Given the description of an element on the screen output the (x, y) to click on. 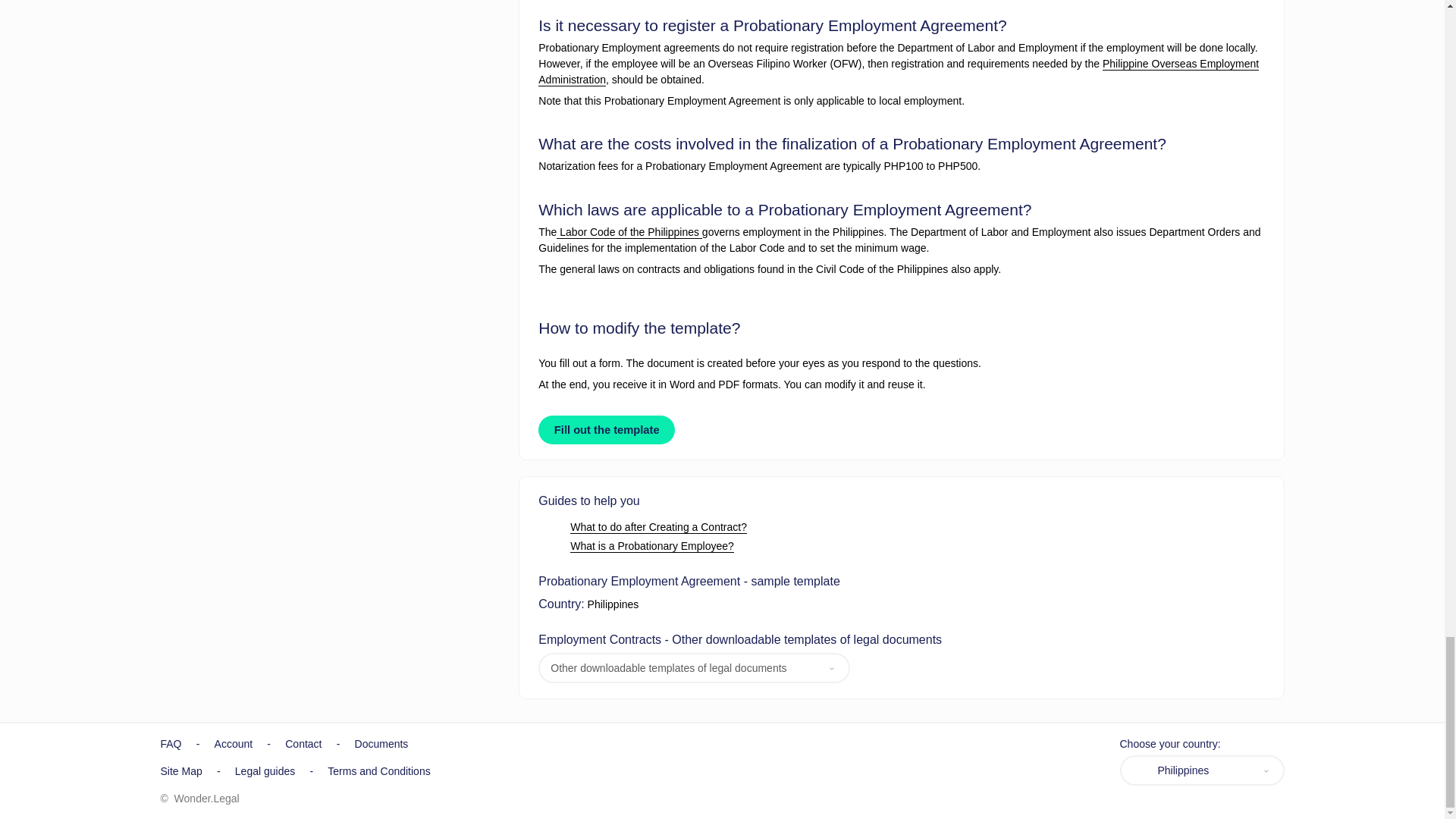
What to do after Creating a Contract? (658, 526)
FAQ (171, 743)
Site Map (181, 770)
Fill out the template (606, 429)
Documents (382, 743)
What is a Probationary Employee? (651, 545)
Account (233, 743)
Contact (303, 743)
Labor Code of the Philippines (628, 232)
Philippine Overseas Employment Administration (898, 71)
